Given the description of an element on the screen output the (x, y) to click on. 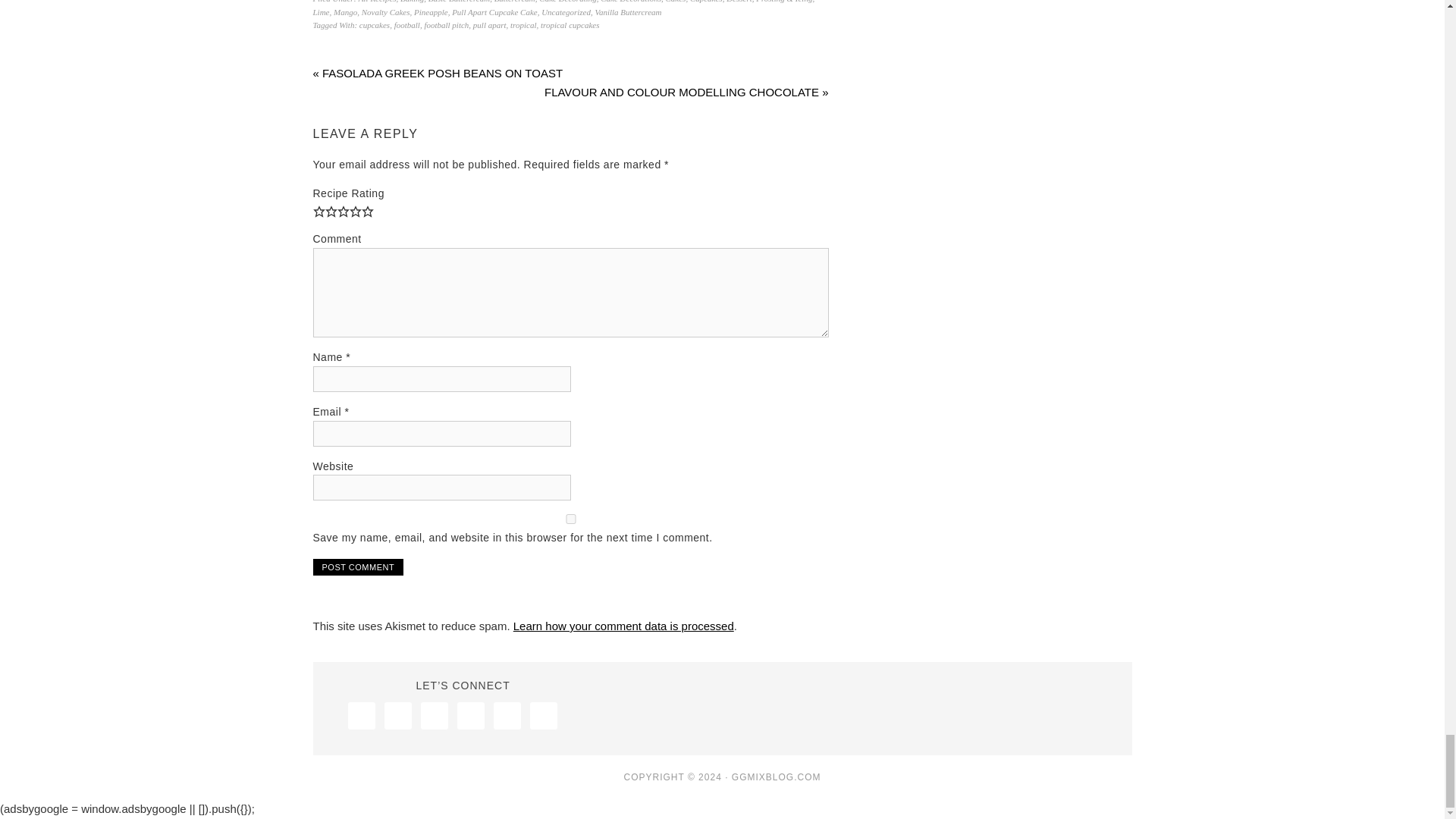
Buttercream (515, 1)
Post Comment (358, 566)
Cupcakes (706, 1)
Baking (411, 1)
Cakes (675, 1)
All Recipes (377, 1)
Dessert (739, 1)
Basic Buttercream (458, 1)
yes (570, 519)
Cake Decorations (630, 1)
